Given the description of an element on the screen output the (x, y) to click on. 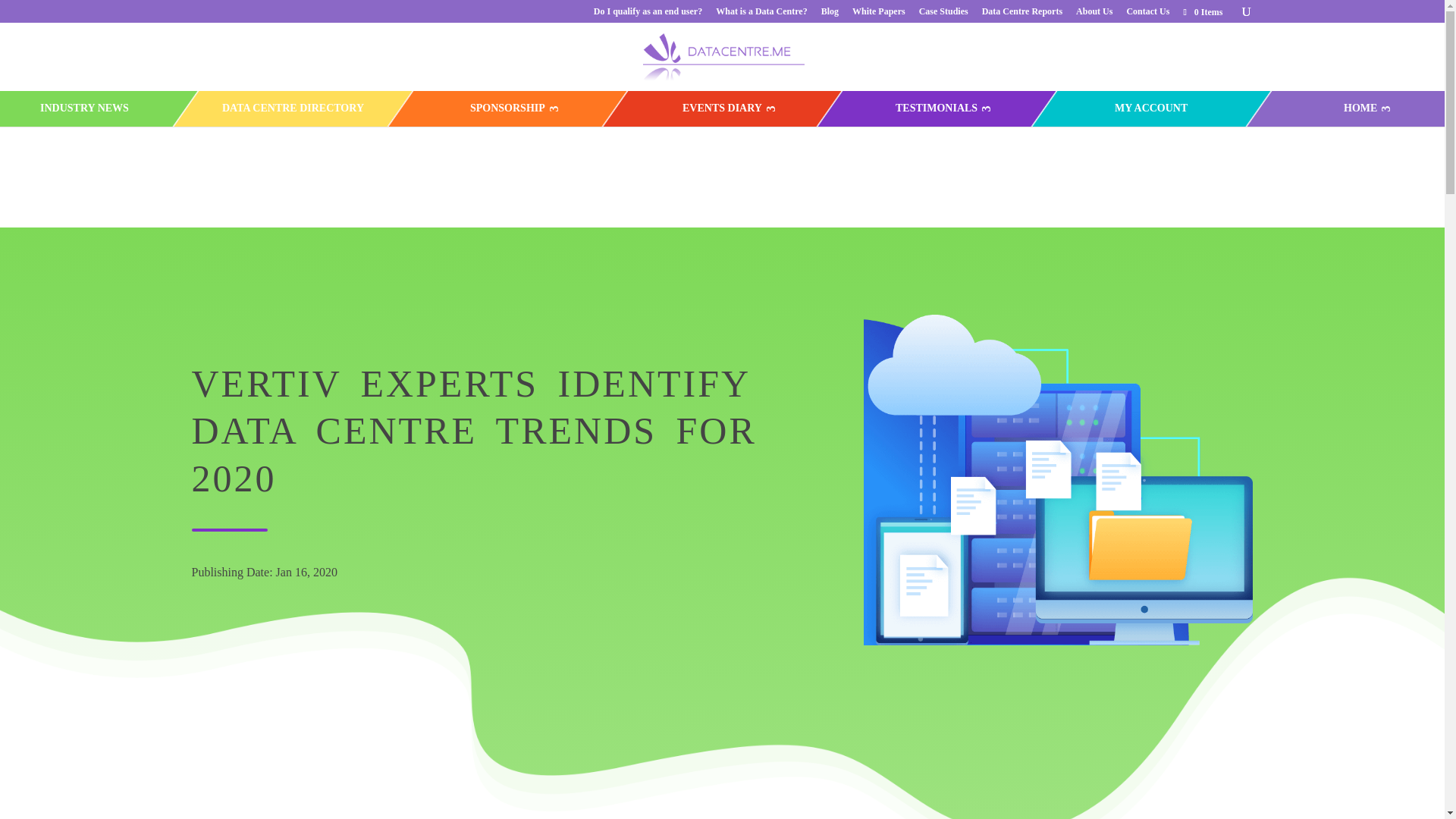
0 Items (1201, 11)
SPONSORSHIP (507, 108)
MY ACCOUNT (1150, 108)
HOME (1359, 108)
DATA CENTRE DIRECTORY (292, 108)
Contact Us (1147, 14)
INDUSTRY NEWS (83, 108)
Case Studies (943, 14)
Blog (829, 14)
White Papers (878, 14)
What is a Data Centre? (761, 14)
Do I qualify as an end user? (647, 14)
Data Centre Reports (1021, 14)
About Us (1093, 14)
EVENTS DIARY (721, 108)
